Given the description of an element on the screen output the (x, y) to click on. 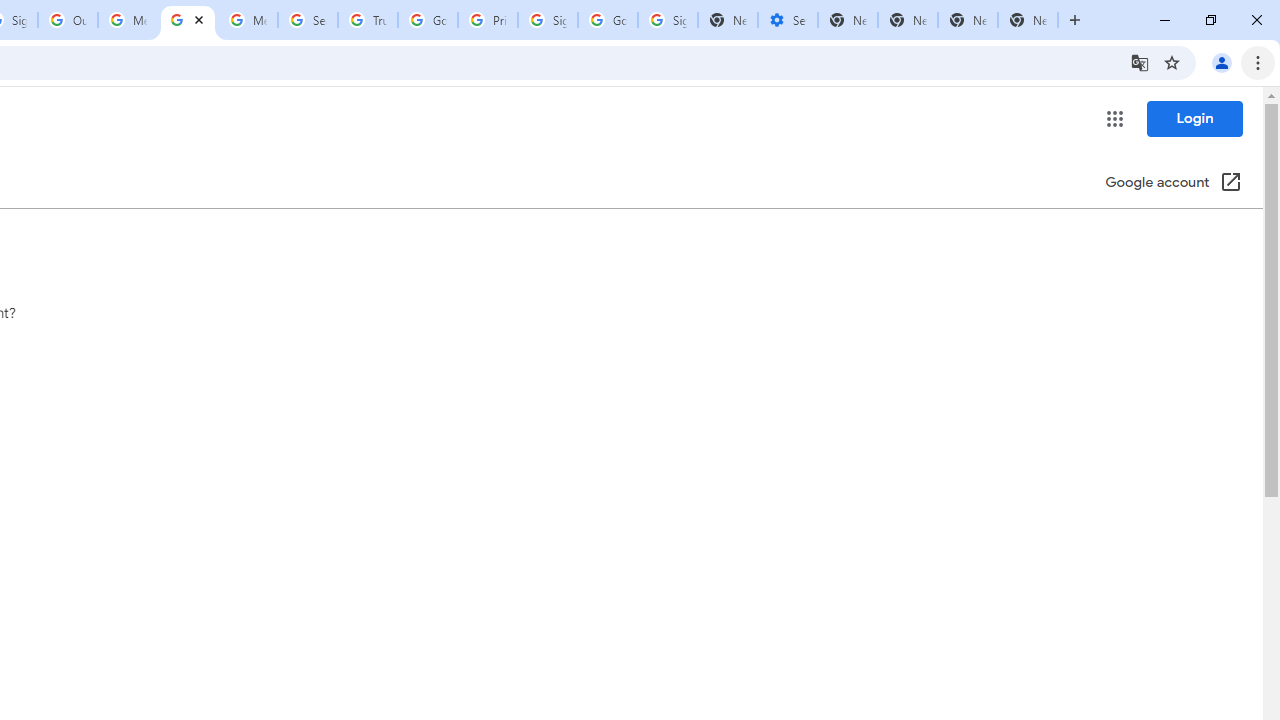
Settings - Performance (787, 20)
Manage your location history - Google Account Help (187, 20)
Google Ads - Sign in (428, 20)
Translate this page (1139, 62)
Search our Doodle Library Collection - Google Doodles (307, 20)
New Tab (1028, 20)
